Given the description of an element on the screen output the (x, y) to click on. 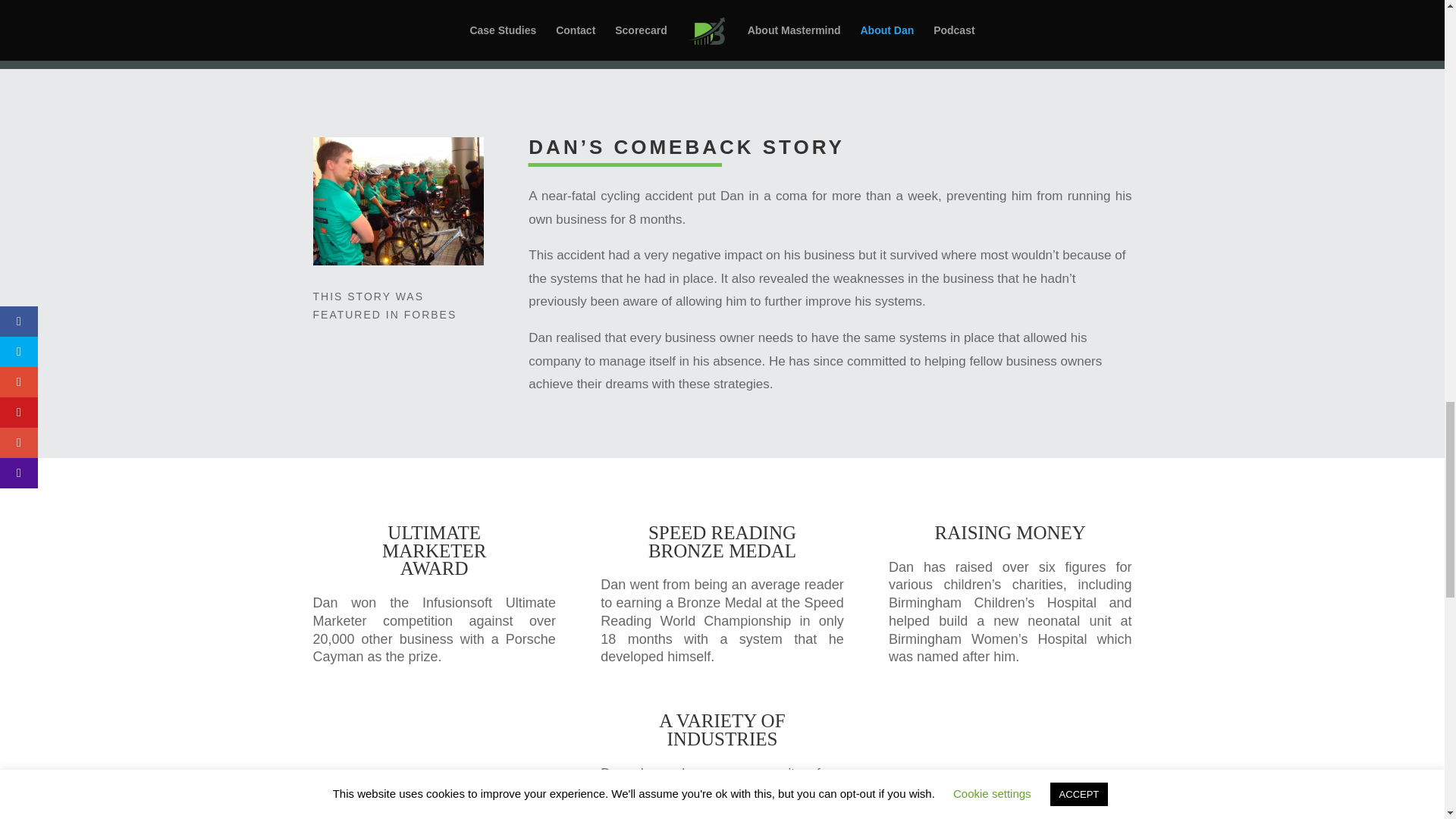
bike (398, 201)
